Given the description of an element on the screen output the (x, y) to click on. 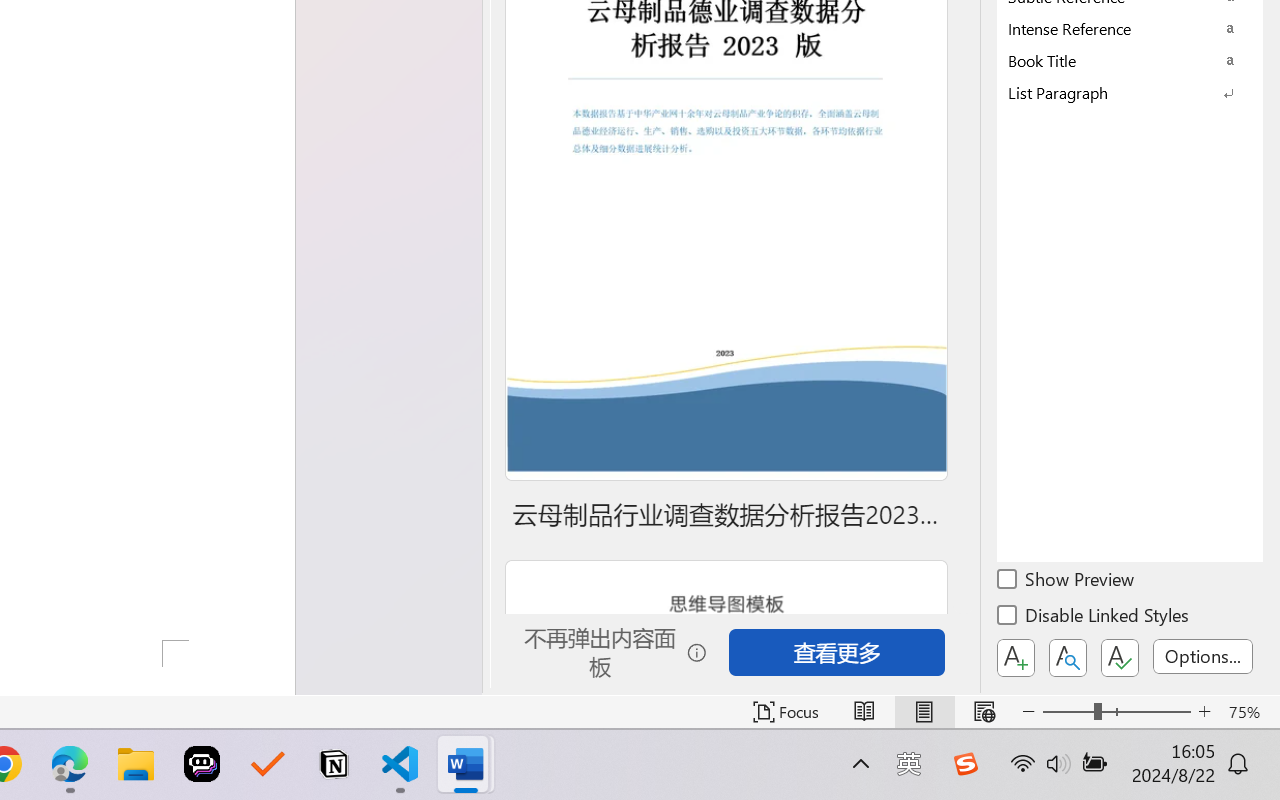
Disable Linked Styles (1094, 618)
Print Layout (924, 712)
Class: NetUIImage (1116, 92)
Book Title (1130, 60)
Class: NetUIButton (1119, 657)
Focus  (786, 712)
Show Preview (1067, 582)
Read Mode (864, 712)
Web Layout (984, 712)
Intense Reference (1130, 28)
Zoom In (1204, 712)
List Paragraph (1130, 92)
Zoom (1116, 712)
